Given the description of an element on the screen output the (x, y) to click on. 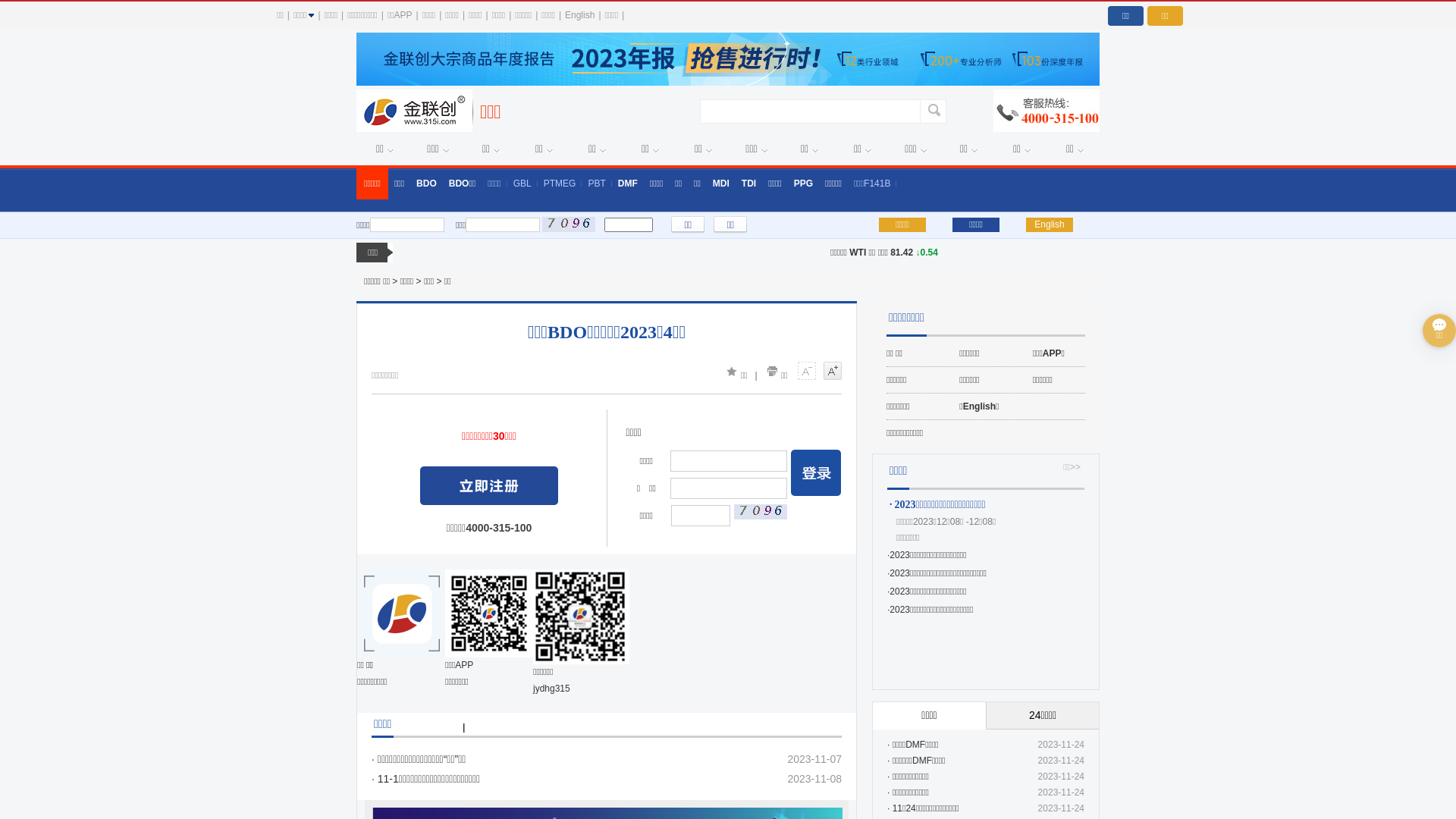
TDI Element type: text (748, 183)
MDI Element type: text (720, 183)
PTMEG Element type: text (559, 183)
BDO Element type: text (426, 183)
PBT Element type: text (596, 183)
English Element type: text (579, 14)
DMF Element type: text (627, 183)
  Element type: text (489, 485)
| Element type: text (463, 726)
GBL Element type: text (522, 183)
English Element type: text (1049, 224)
PPG Element type: text (803, 183)
